Given the description of an element on the screen output the (x, y) to click on. 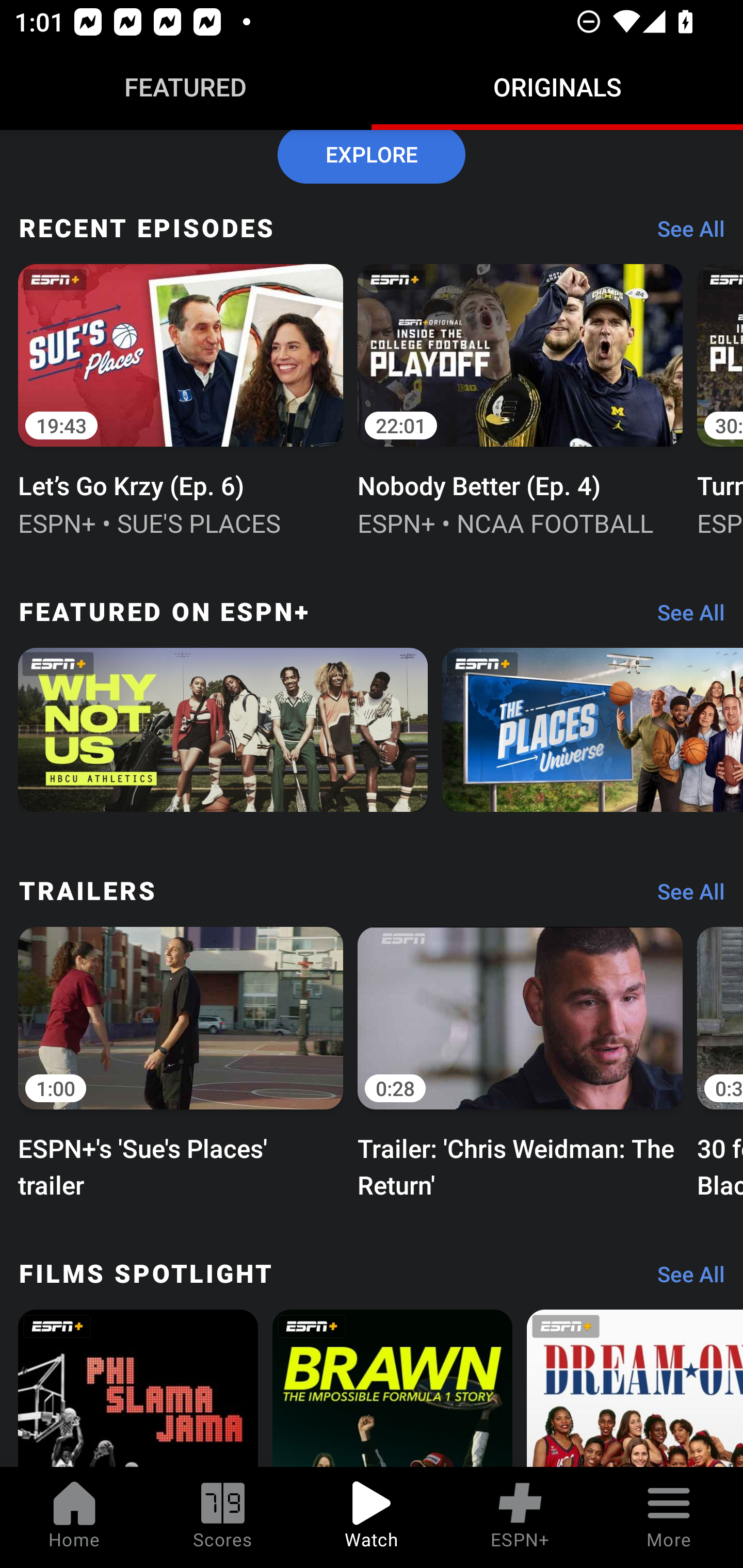
Featured FEATURED (185, 86)
EXPLORE (371, 156)
See All (683, 233)
19:43 Let’s Go Krzy (Ep. 6) ESPN+ • SUE'S PLACES (180, 398)
22:01 Nobody Better (Ep. 4) ESPN+ • NCAA FOOTBALL (519, 398)
See All (683, 617)
See All (683, 896)
1:00 ESPN+'s 'Sue's Places' trailer (180, 1060)
0:28 Trailer: 'Chris Weidman: The Return' (519, 1060)
See All (683, 1279)
Home (74, 1517)
Scores (222, 1517)
ESPN+ (519, 1517)
More (668, 1517)
